Given the description of an element on the screen output the (x, y) to click on. 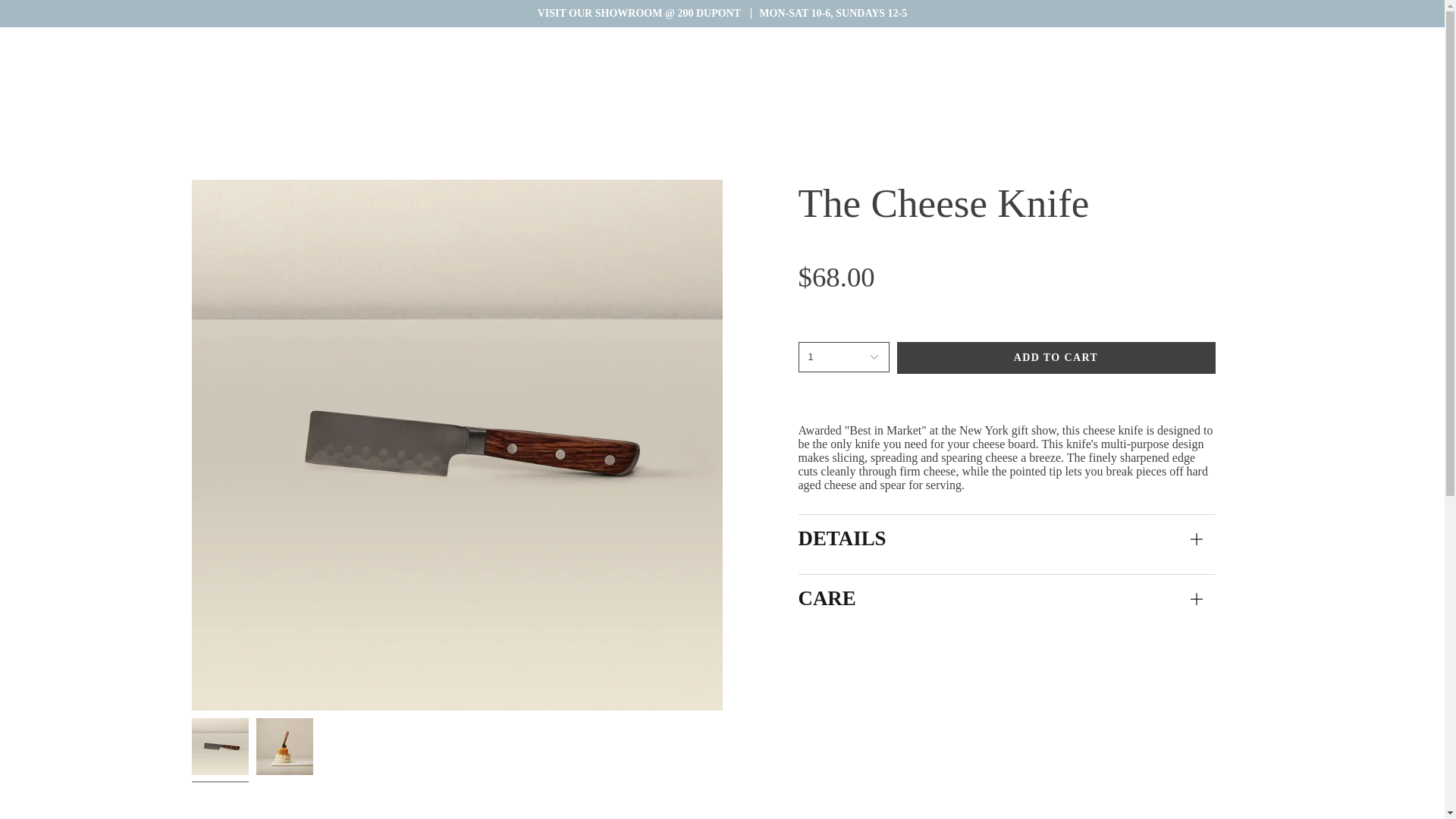
About (50, 37)
Blog (91, 37)
Contact (134, 37)
